Given the description of an element on the screen output the (x, y) to click on. 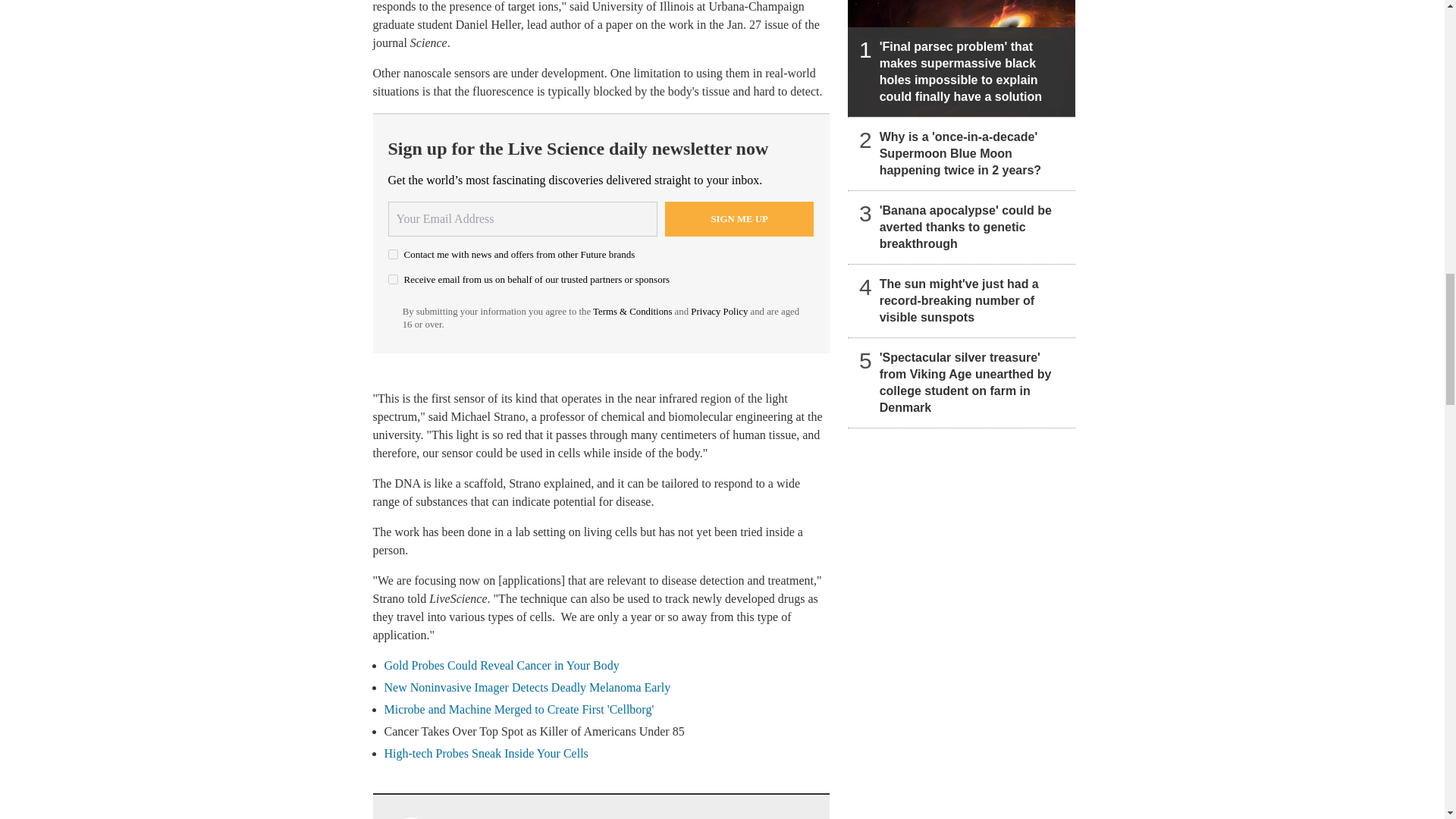
Sign me up (739, 218)
on (392, 279)
on (392, 254)
